Given the description of an element on the screen output the (x, y) to click on. 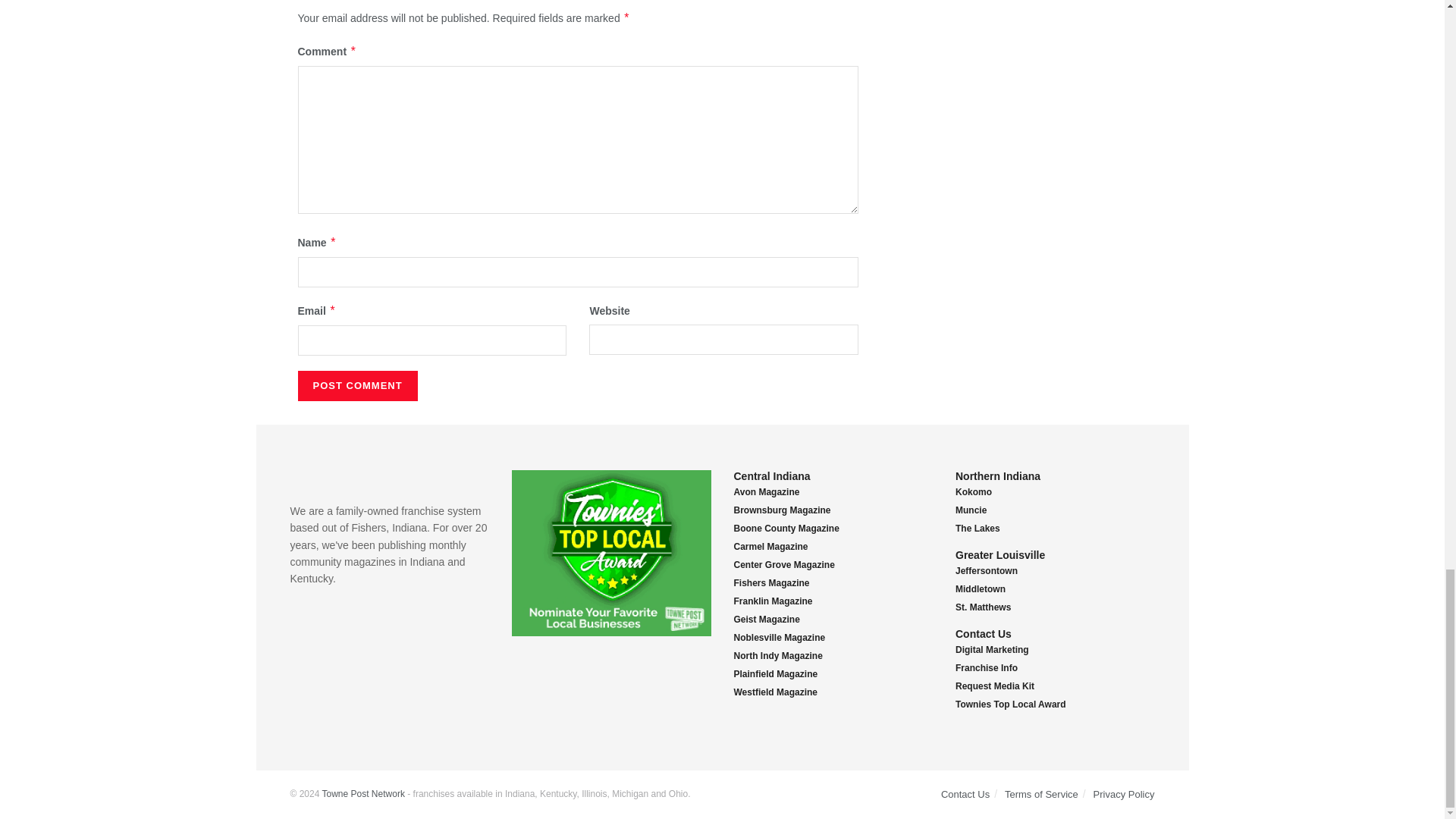
Towne Post Network (362, 793)
Post Comment (356, 386)
